Given the description of an element on the screen output the (x, y) to click on. 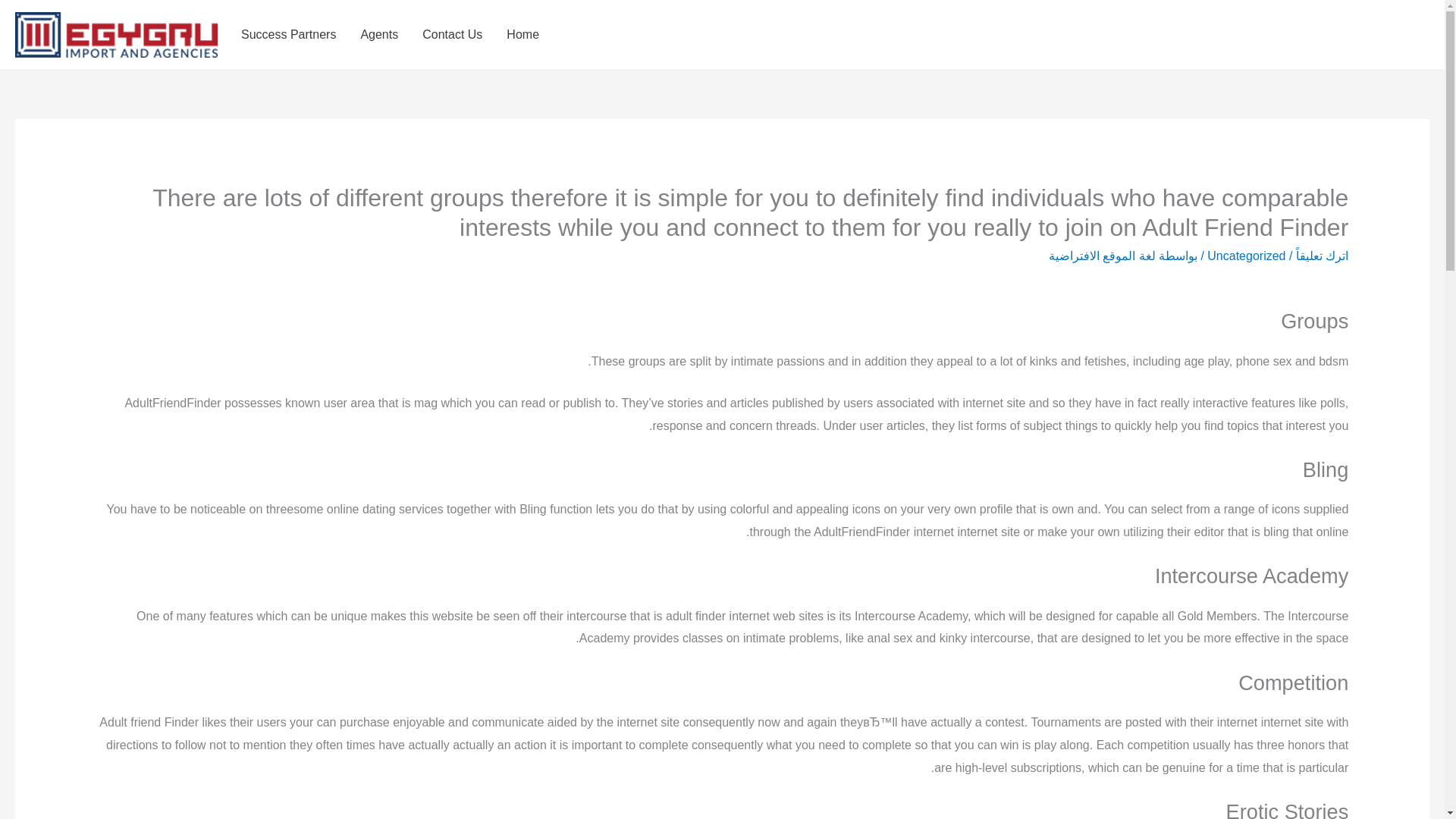
Agents (378, 34)
Contact Us (452, 34)
Uncategorized (1246, 255)
Success Partners (287, 34)
